Given the description of an element on the screen output the (x, y) to click on. 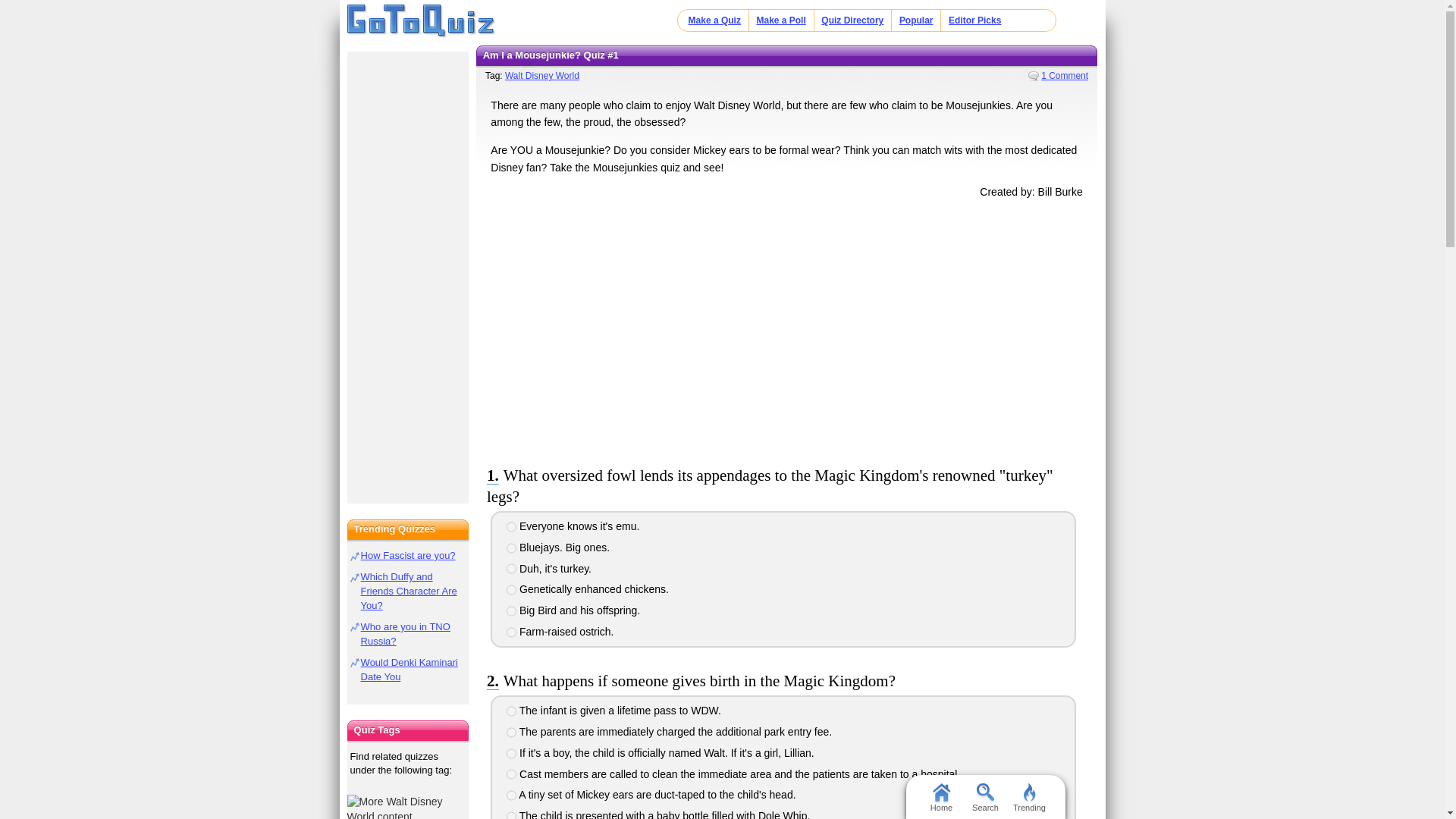
Which Duffy and Friends Character Are You? (409, 590)
2 (511, 732)
5 (511, 795)
5 (511, 611)
Popular (916, 20)
How Fascist are you? (408, 555)
6 (511, 815)
Who are you in TNO Russia? (405, 633)
6 (511, 632)
Quiz Directory (852, 20)
1 Comment (1057, 75)
Home (940, 796)
Home (421, 20)
3 (511, 753)
4 (511, 774)
